Given the description of an element on the screen output the (x, y) to click on. 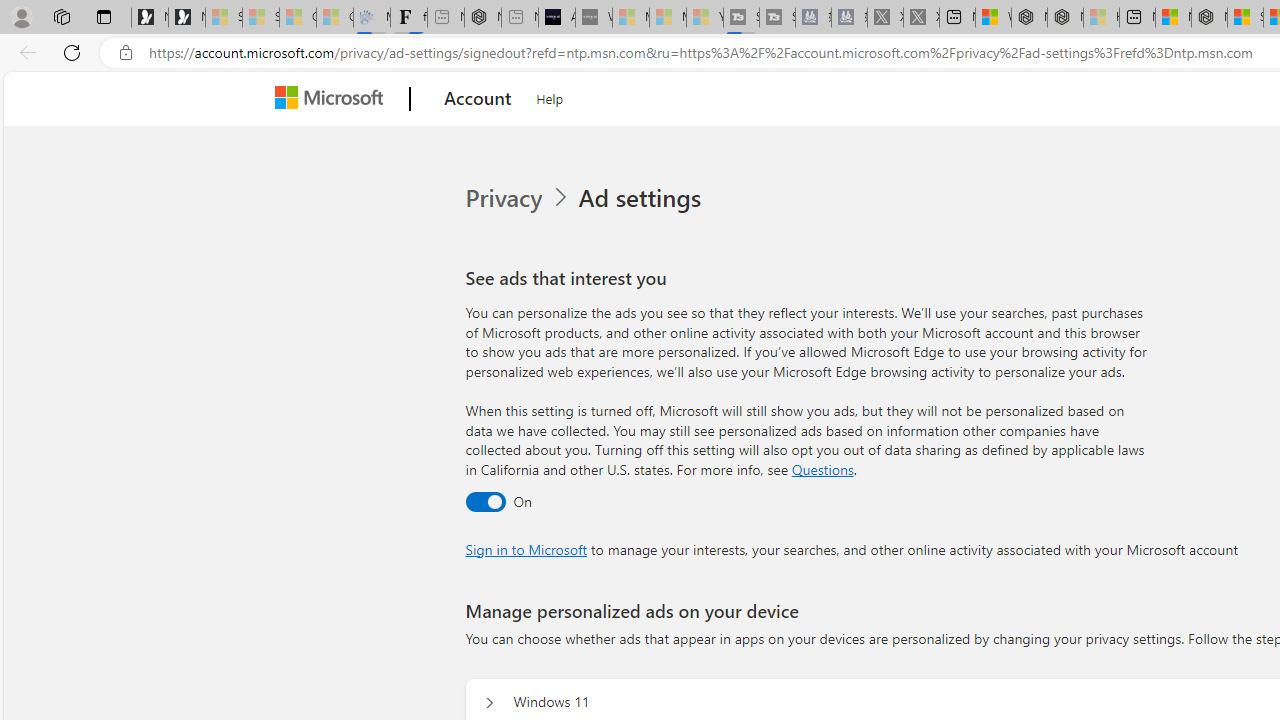
Nordace - Nordace Siena Is Not An Ordinary Backpack (1209, 17)
Help (550, 96)
Microsoft Start - Sleeping (668, 17)
AI Voice Changer for PC and Mac - Voice.ai (556, 17)
Microsoft (332, 99)
Ad settings (643, 197)
Account (477, 99)
Privacy (519, 197)
Manage personalized ads on your device Windows 11 (489, 702)
